Given the description of an element on the screen output the (x, y) to click on. 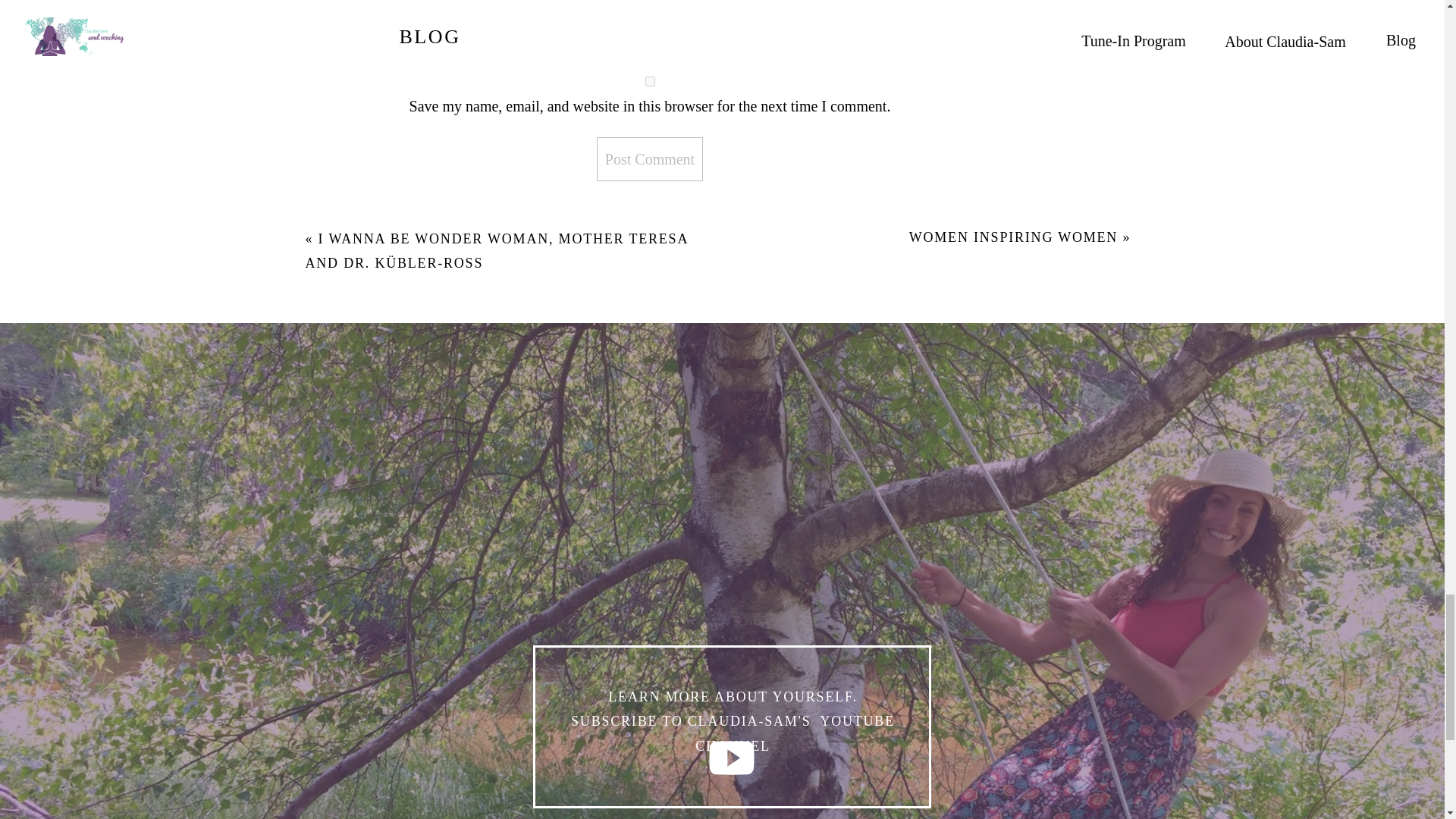
Post Comment (649, 158)
Post Comment (649, 158)
yes (650, 81)
WOMEN INSPIRING WOMEN (1013, 237)
